Given the description of an element on the screen output the (x, y) to click on. 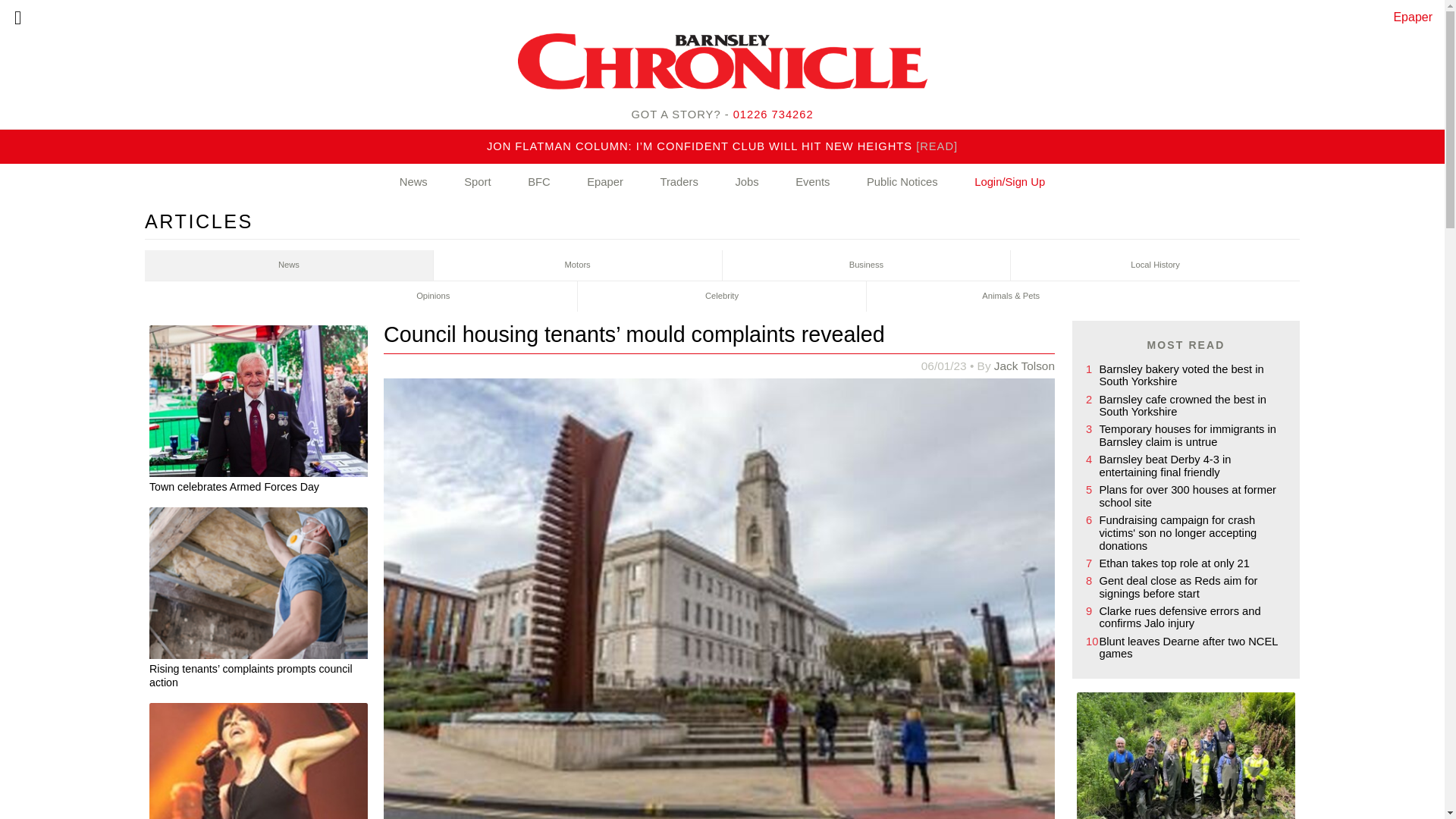
Traders (678, 182)
Epaper (1412, 16)
Opinions (433, 296)
01226 734262 (773, 114)
Jobs (745, 182)
News (288, 265)
Events (812, 182)
Epaper (604, 182)
News (413, 182)
Business (866, 265)
